Given the description of an element on the screen output the (x, y) to click on. 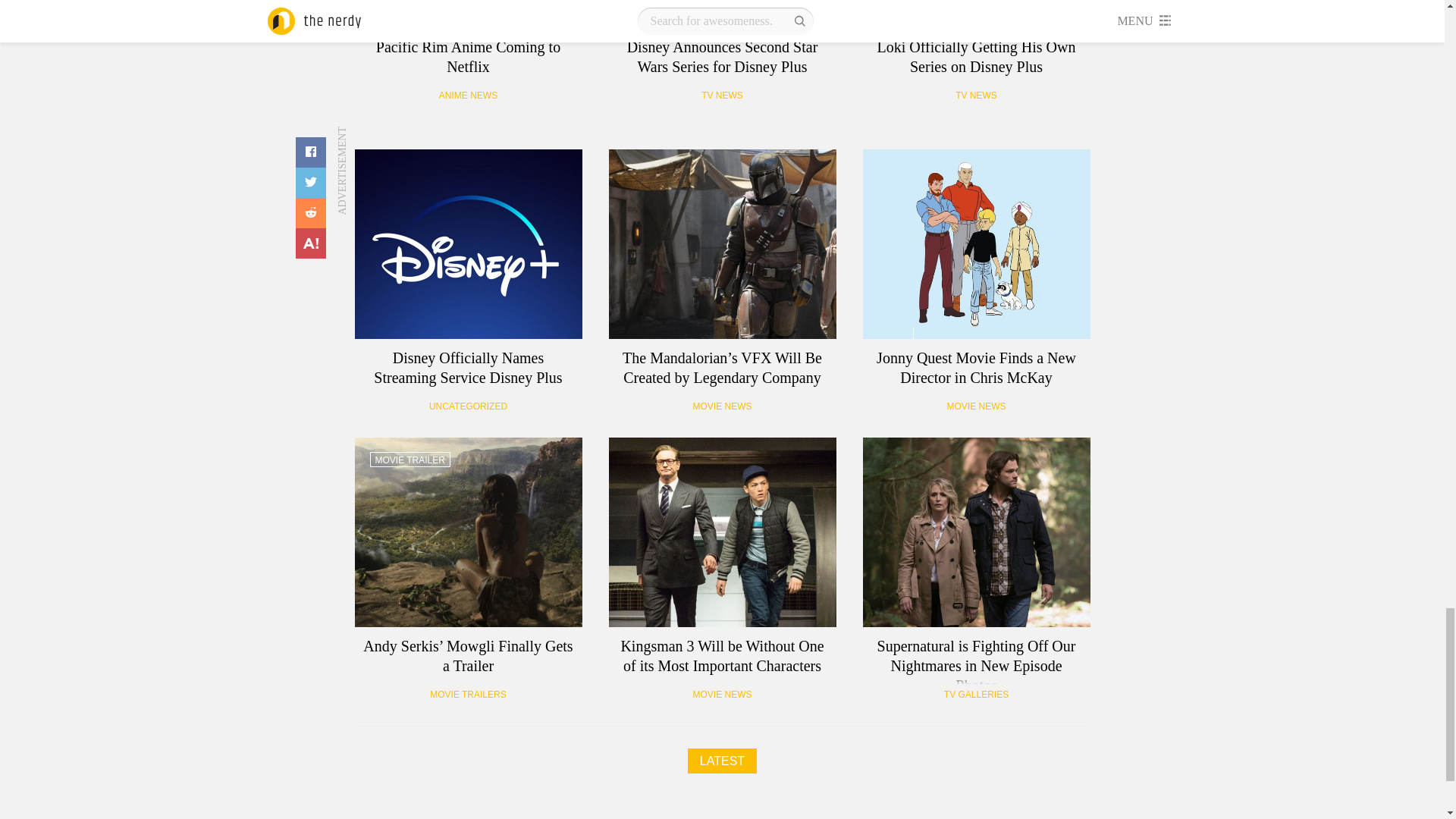
Pacific Rim Anime Coming to Netflix (468, 13)
